Given the description of an element on the screen output the (x, y) to click on. 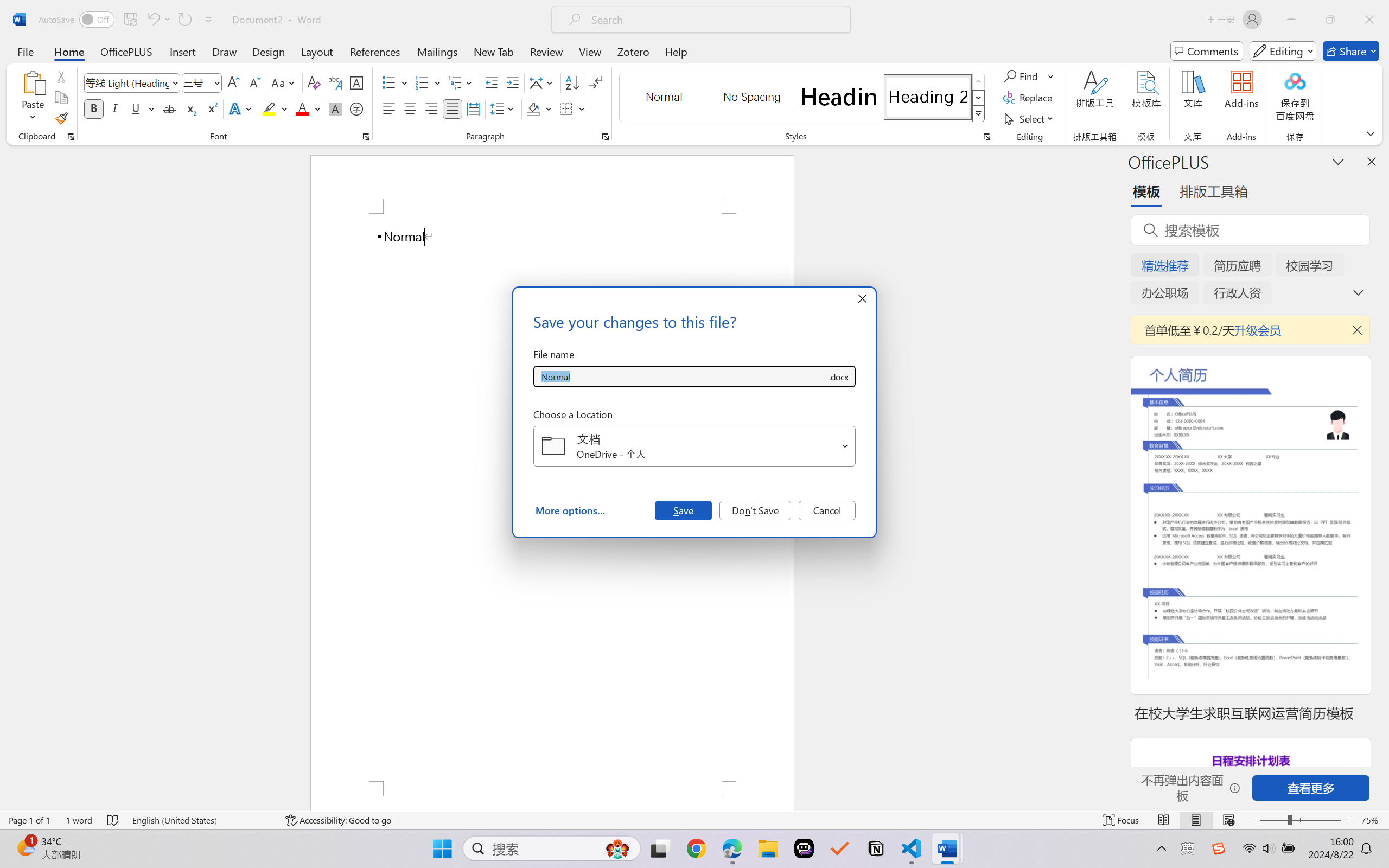
Class: Image (1218, 847)
Web Layout (1228, 819)
Focus  (1121, 819)
Undo Typing (152, 19)
